Given the description of an element on the screen output the (x, y) to click on. 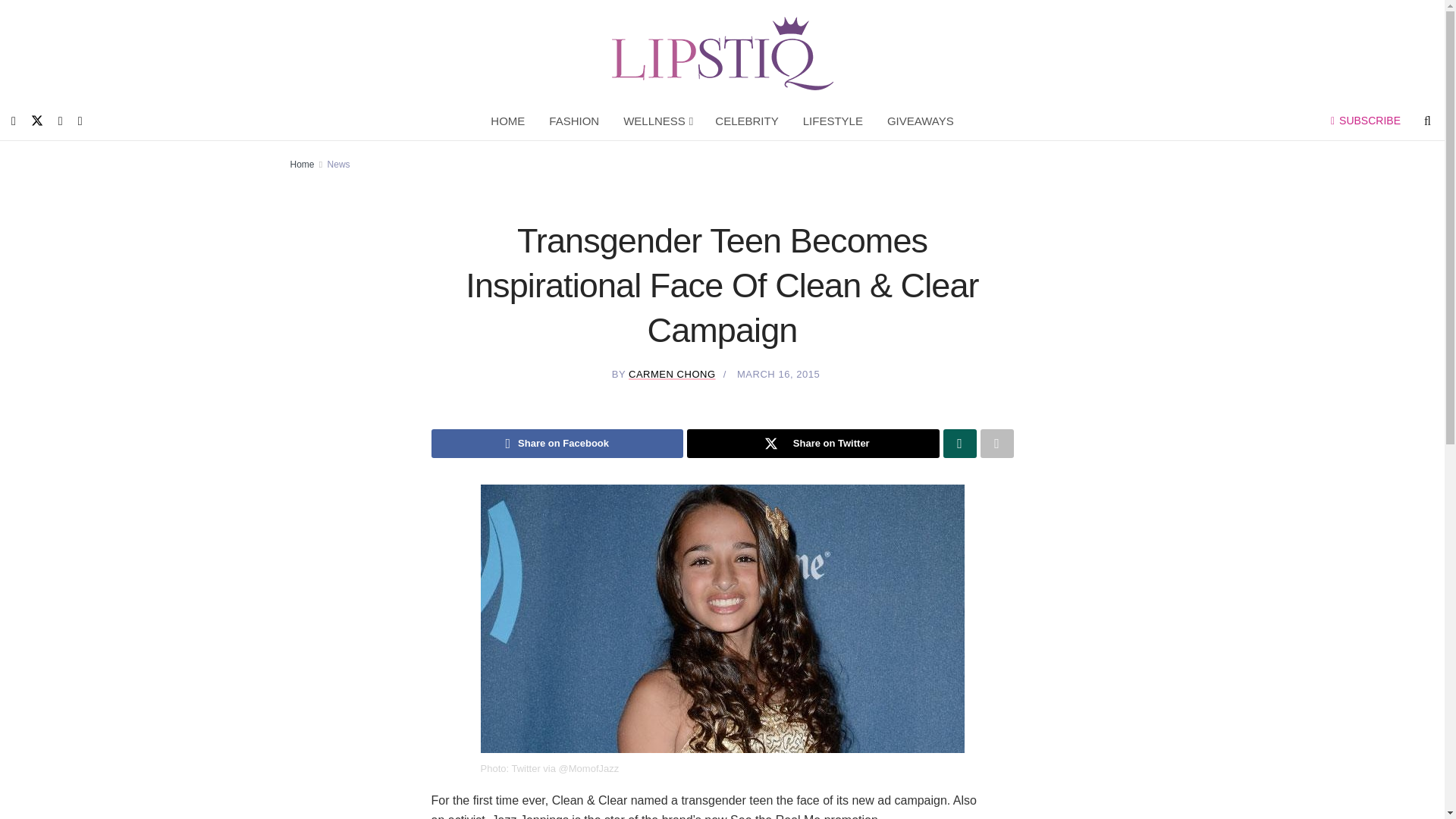
HOME (508, 121)
CARMEN CHONG (672, 374)
FASHION (574, 121)
Home (301, 163)
SUBSCRIBE (1365, 120)
MARCH 16, 2015 (777, 374)
WELLNESS (657, 121)
Share on Twitter (813, 443)
News (338, 163)
Share on Facebook (556, 443)
